Given the description of an element on the screen output the (x, y) to click on. 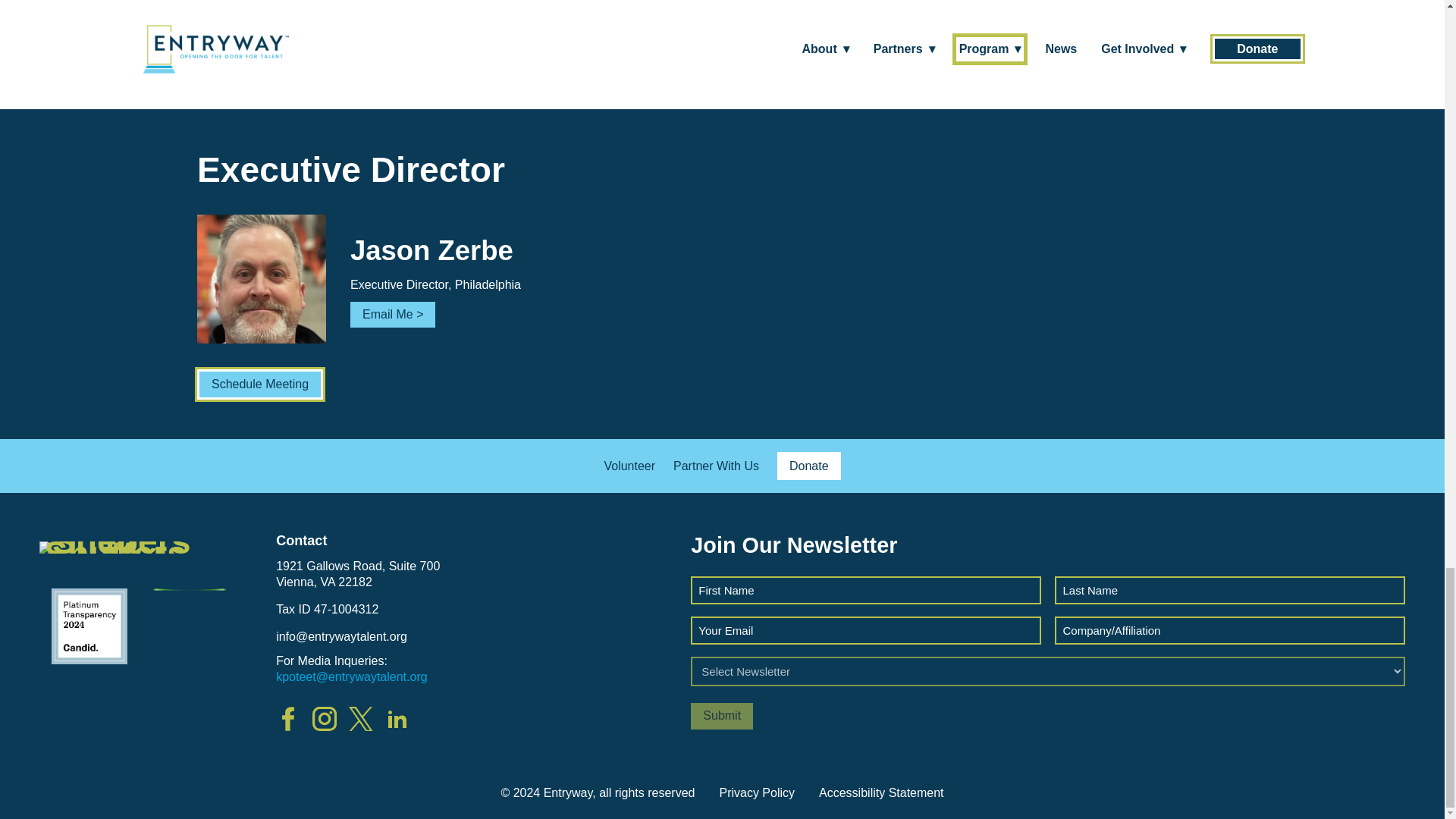
Donate Now (636, 12)
external link opens in a new tab (636, 12)
external link opens in a new tab (259, 384)
external link opens in a new tab (789, 12)
link opens in new tab (394, 719)
Submit (721, 715)
